Given the description of an element on the screen output the (x, y) to click on. 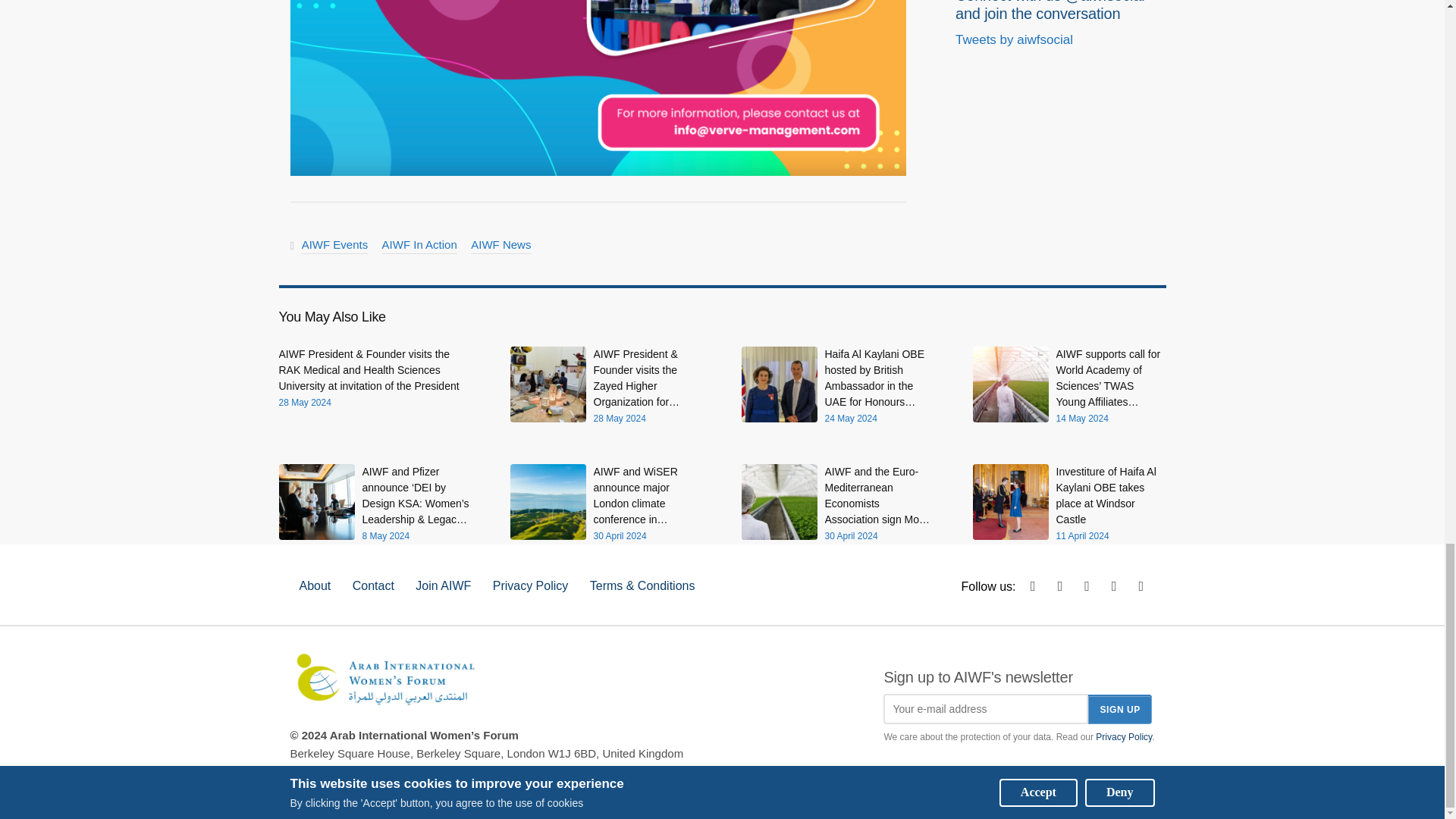
Sign up (1119, 708)
